Given the description of an element on the screen output the (x, y) to click on. 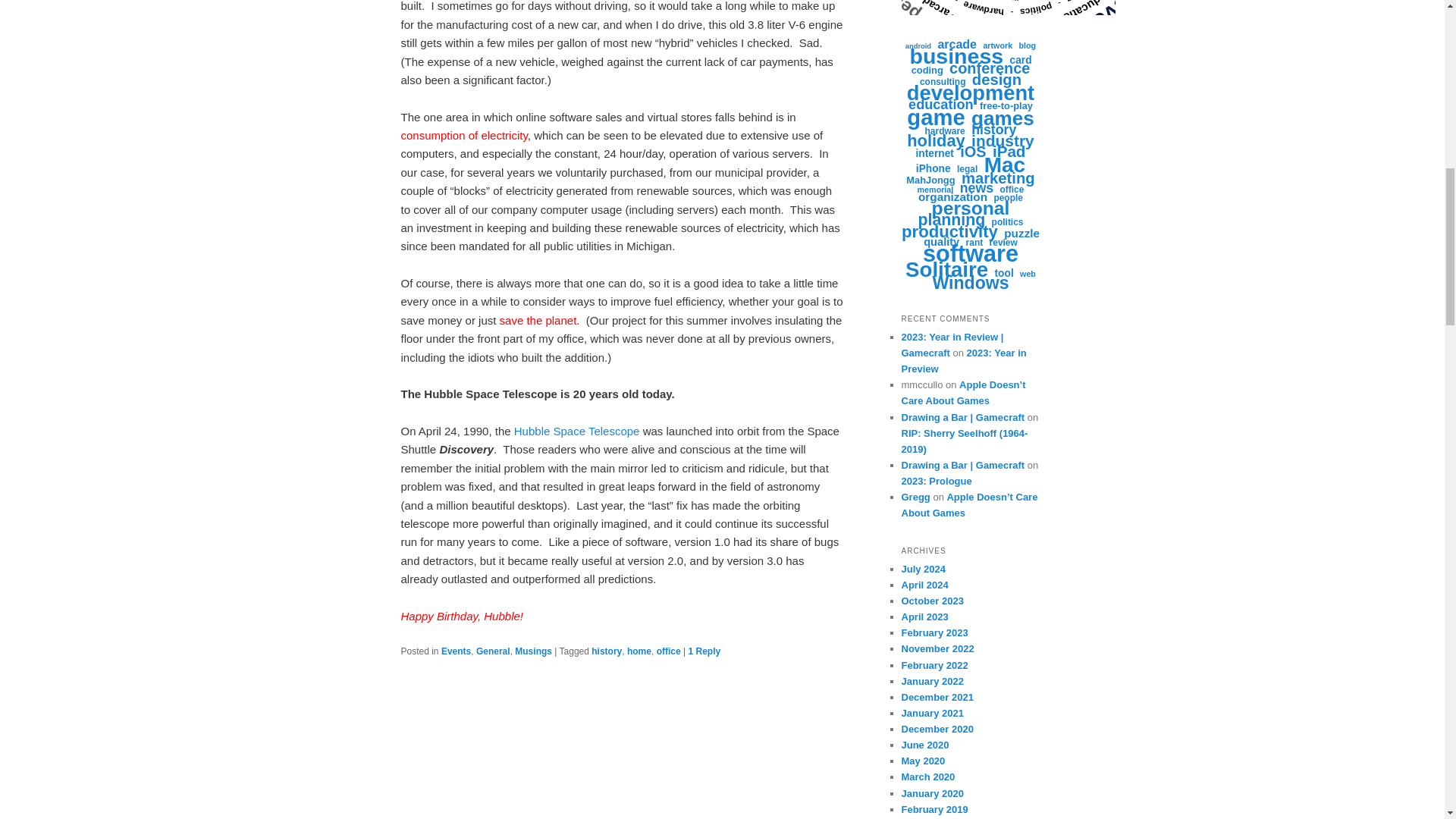
coding (927, 69)
office (668, 651)
home (638, 651)
conference (989, 68)
android (918, 46)
General (493, 651)
Hubble Space Telescope (576, 431)
blog (1027, 46)
arcade (956, 44)
1 Reply (703, 651)
artwork (996, 46)
design (997, 79)
consulting (943, 81)
Events (455, 651)
development (970, 92)
